Given the description of an element on the screen output the (x, y) to click on. 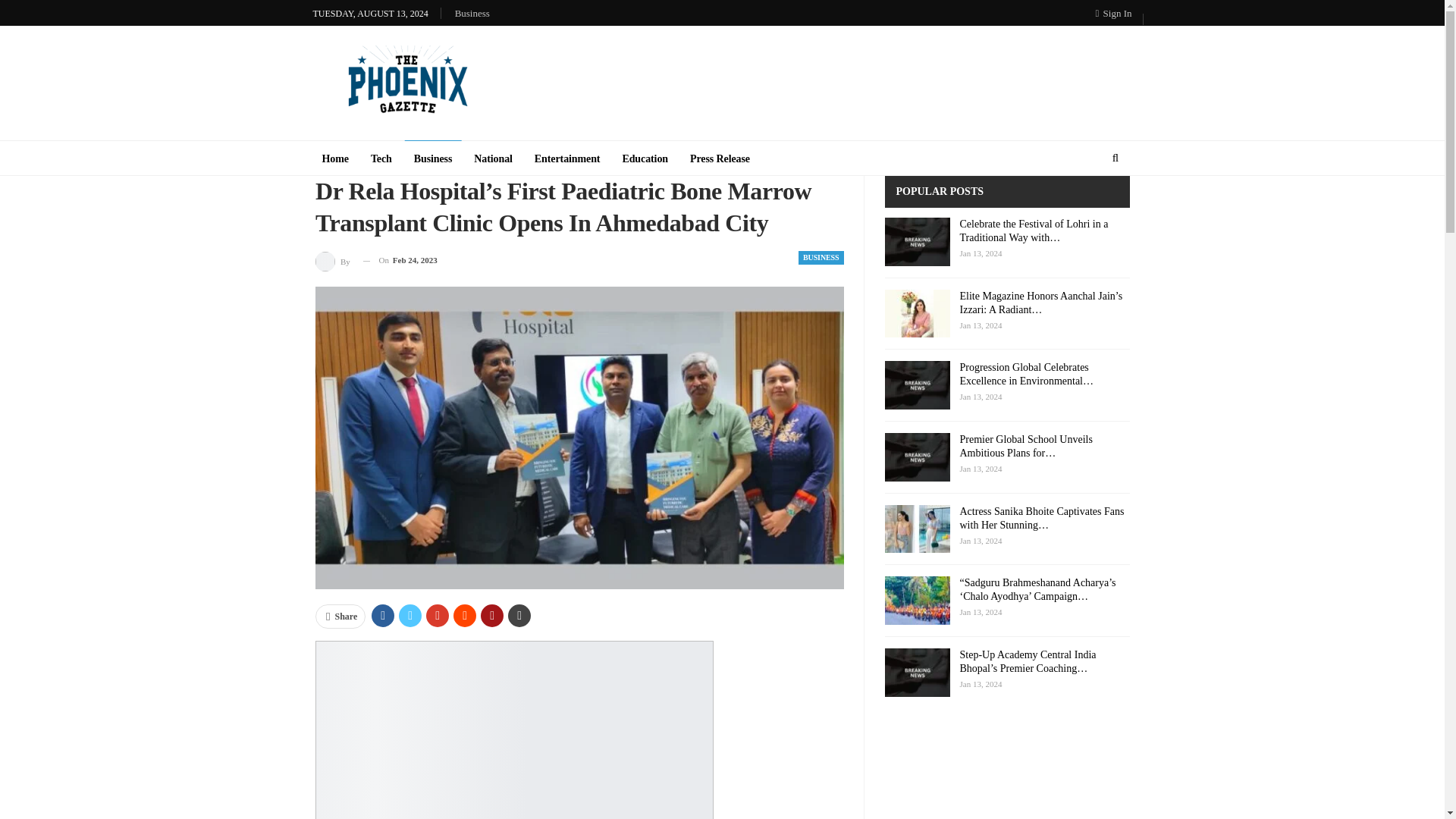
Business (471, 12)
National (492, 158)
Business (432, 158)
Home (334, 158)
Tech (381, 158)
Entertainment (567, 158)
Press Release (719, 158)
Education (644, 158)
BUSINESS (820, 257)
Browse Author Articles (333, 260)
